Given the description of an element on the screen output the (x, y) to click on. 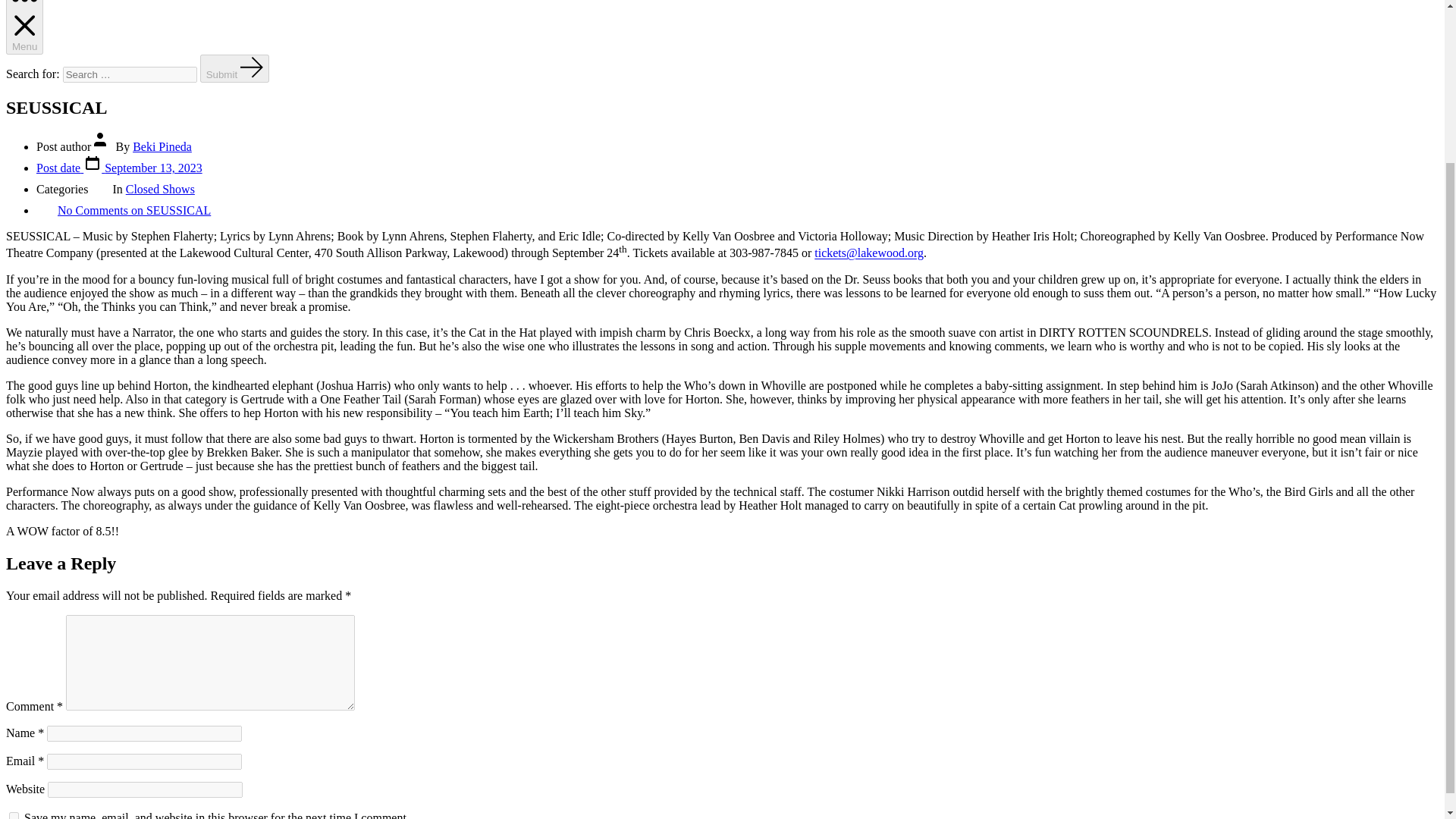
Submit (234, 68)
Closed Shows (160, 188)
Post date September 13, 2023 (119, 167)
Beki Pineda (162, 146)
No Comments on SEUSSICAL (134, 210)
